Given the description of an element on the screen output the (x, y) to click on. 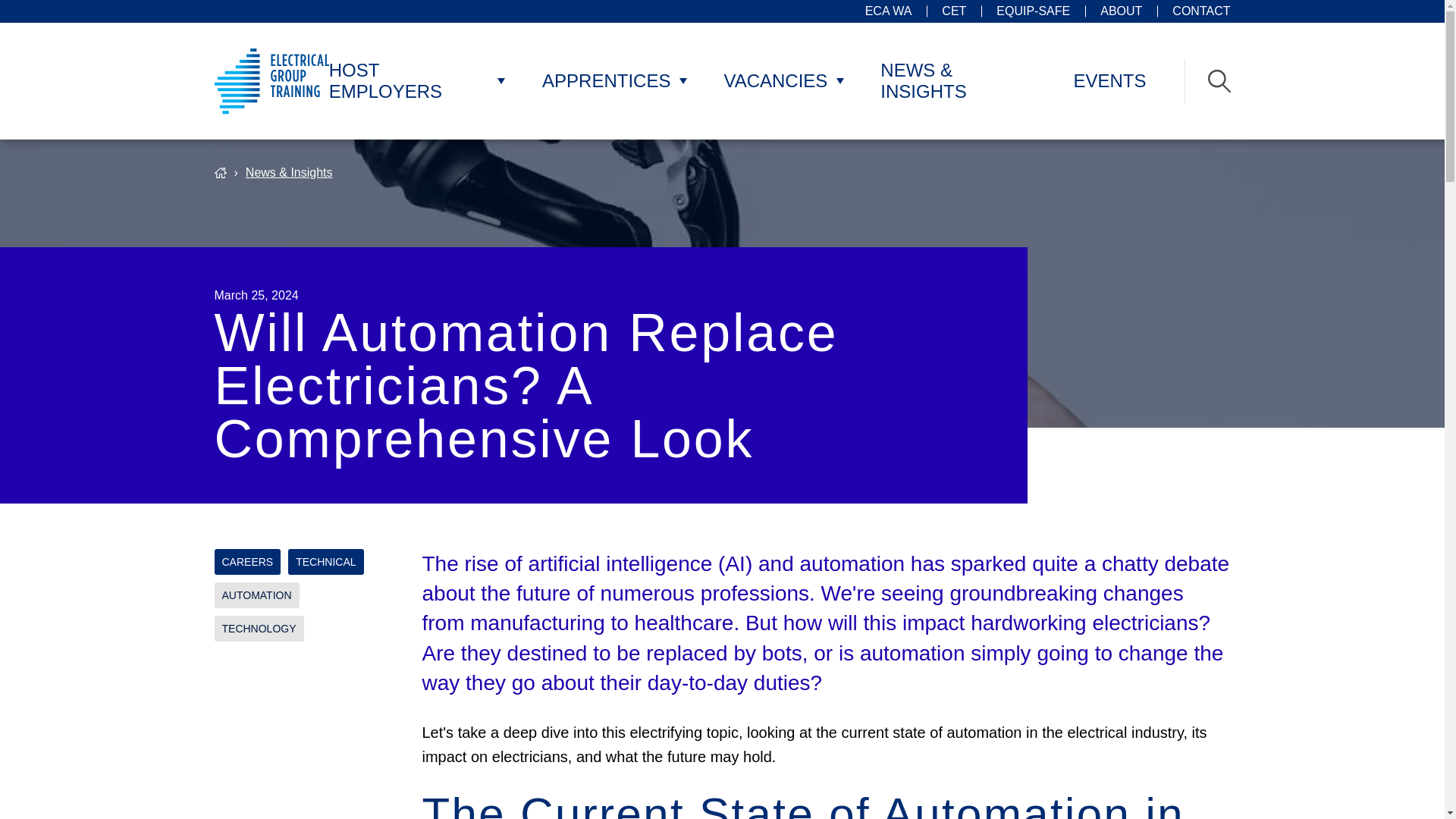
VACANCIES (775, 80)
APPRENTICES (605, 80)
CONTACT (1201, 11)
Toggle submenu for Vacancies (839, 81)
EVENTS (1109, 80)
ECA WA (888, 11)
EQUIP-SAFE (1032, 11)
HOST EMPLOYERS (409, 80)
Toggle submenu for Apprentices (681, 81)
Toggle submenu for Host Employers (501, 81)
